Given the description of an element on the screen output the (x, y) to click on. 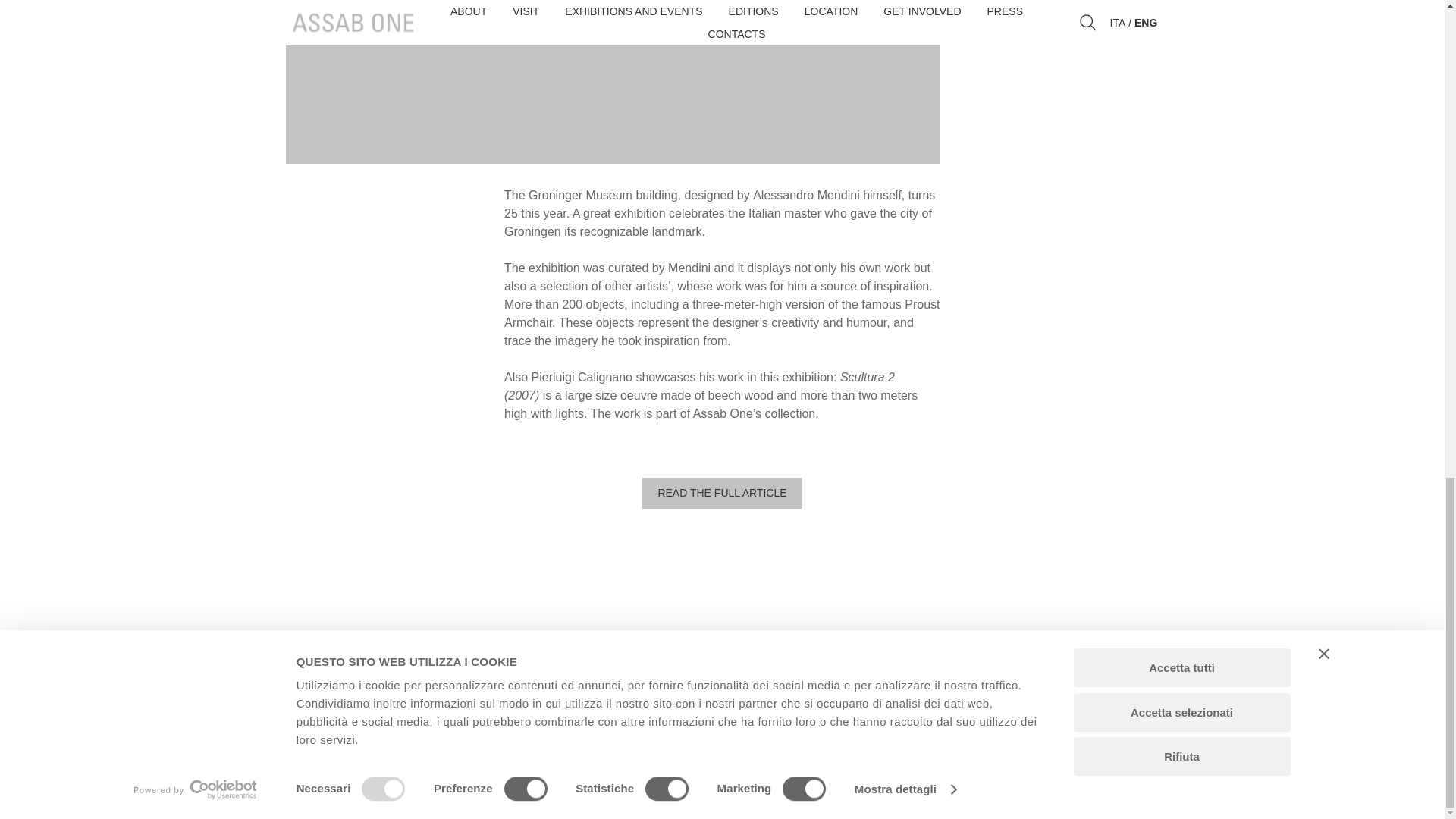
Instagram - Assab One (1141, 714)
1. Alessandro Mendini (612, 81)
Facebook - Assab One (1109, 714)
Youtube - Assab One (1075, 714)
